Given the description of an element on the screen output the (x, y) to click on. 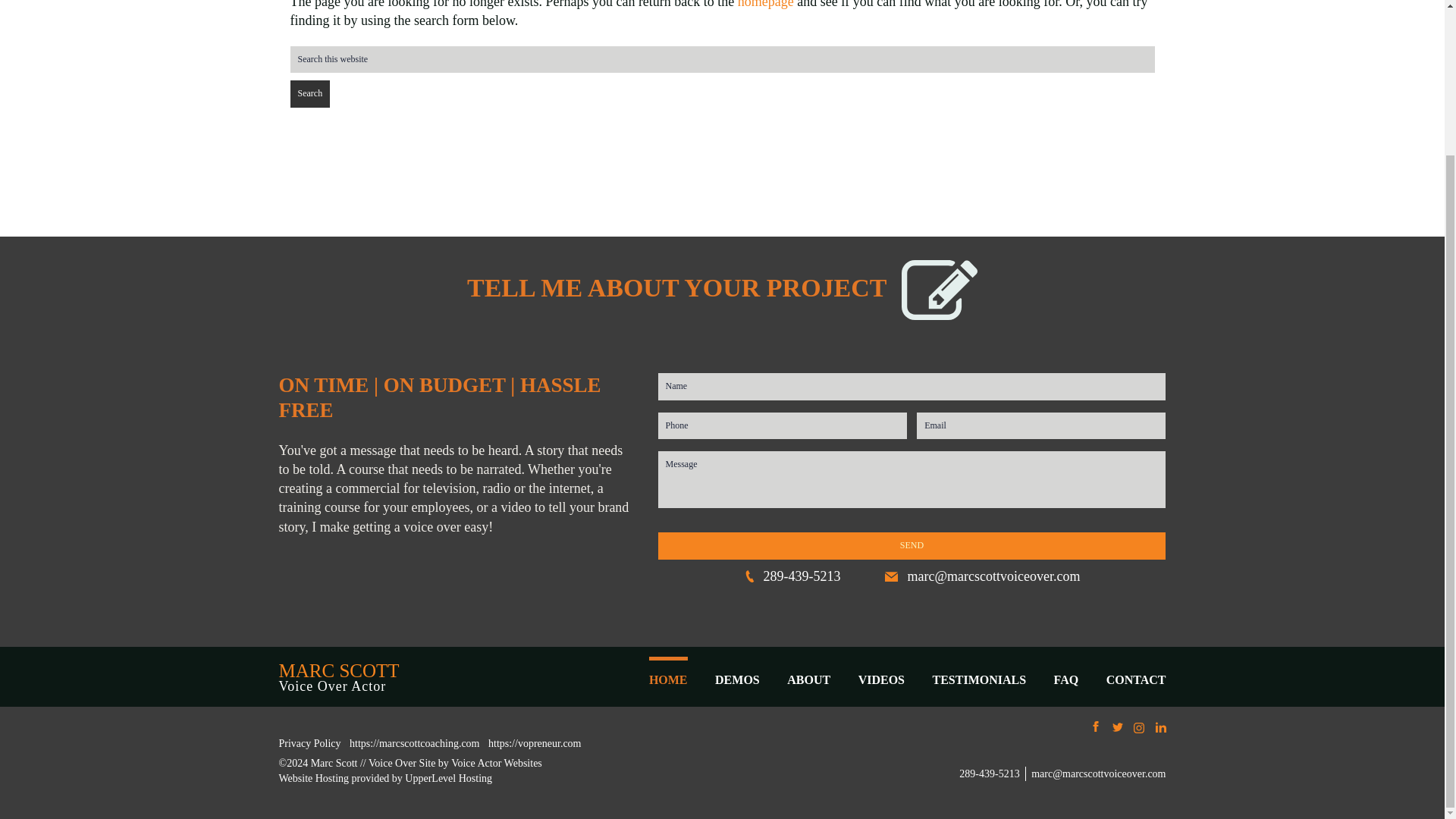
Envelope (982, 575)
HOME (668, 672)
MARC SCOTT (338, 670)
ABOUT (808, 679)
Search (309, 93)
Instagram (1139, 727)
Search (309, 93)
VIDEOS (881, 679)
FAQ (1066, 679)
Voice Actor Websites (496, 763)
